Given the description of an element on the screen output the (x, y) to click on. 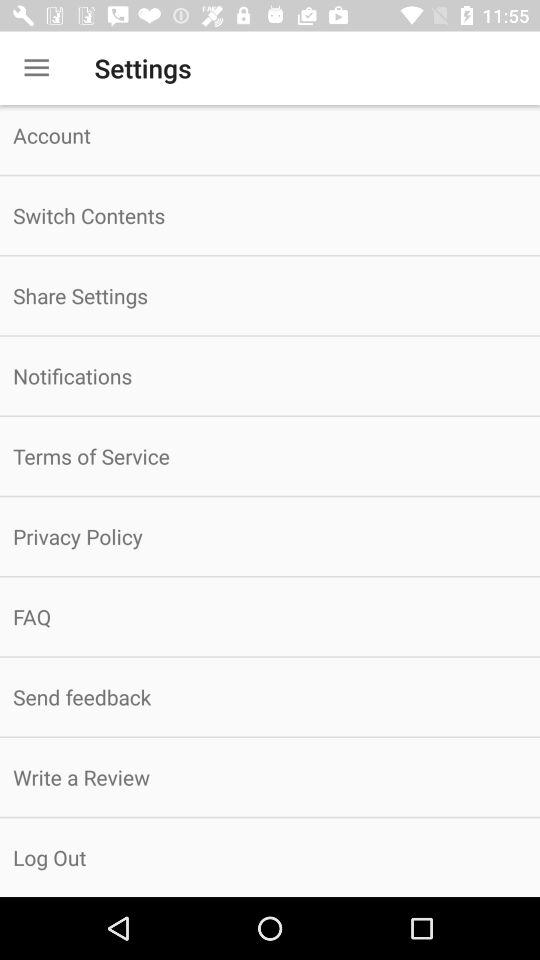
turn on item below account item (270, 215)
